Given the description of an element on the screen output the (x, y) to click on. 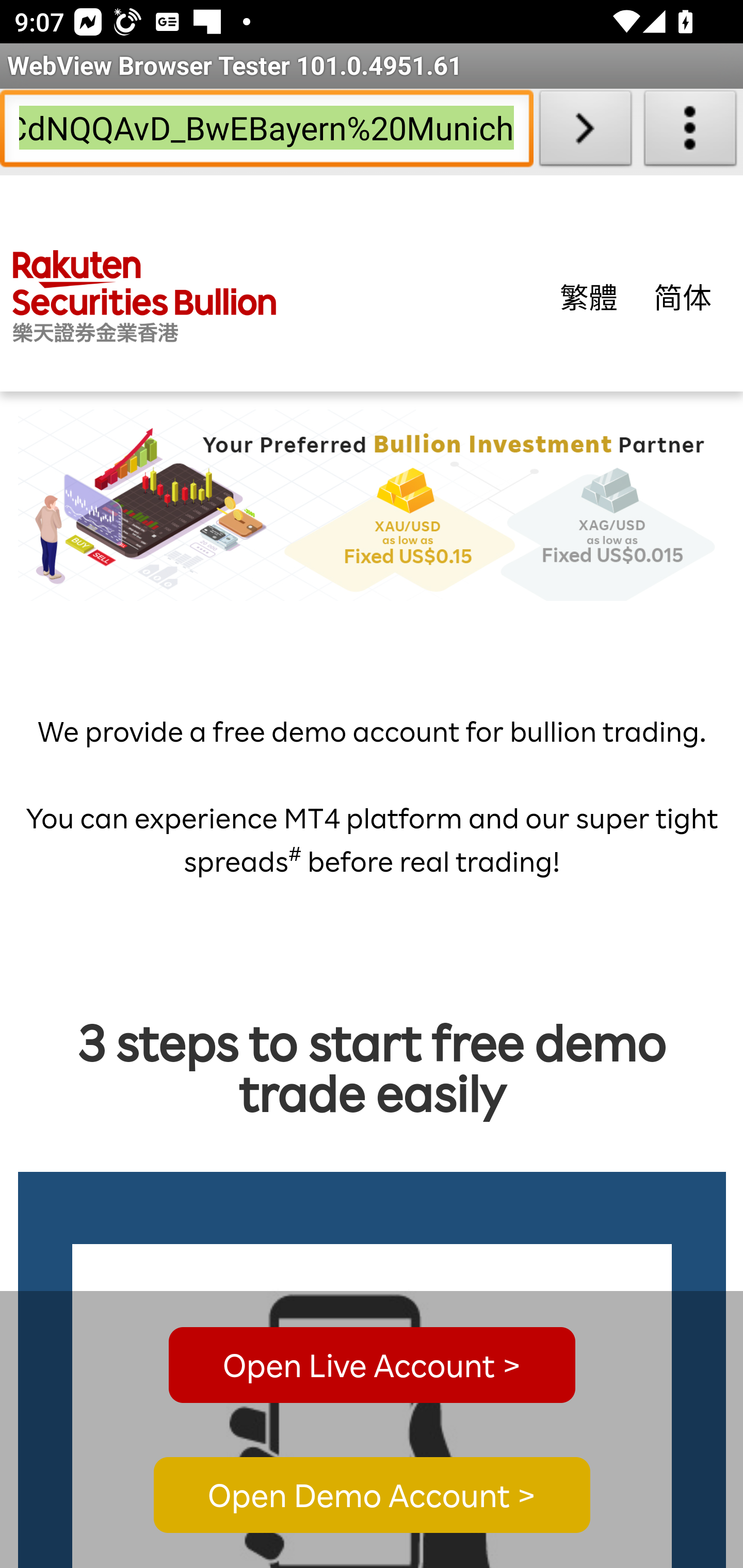
Load URL (585, 132)
About WebView (690, 132)
繁體 (589, 296)
简体 (683, 296)
1. Register (372, 1405)
Open Live Account > (371, 1364)
Open Demo Account > (371, 1495)
